Given the description of an element on the screen output the (x, y) to click on. 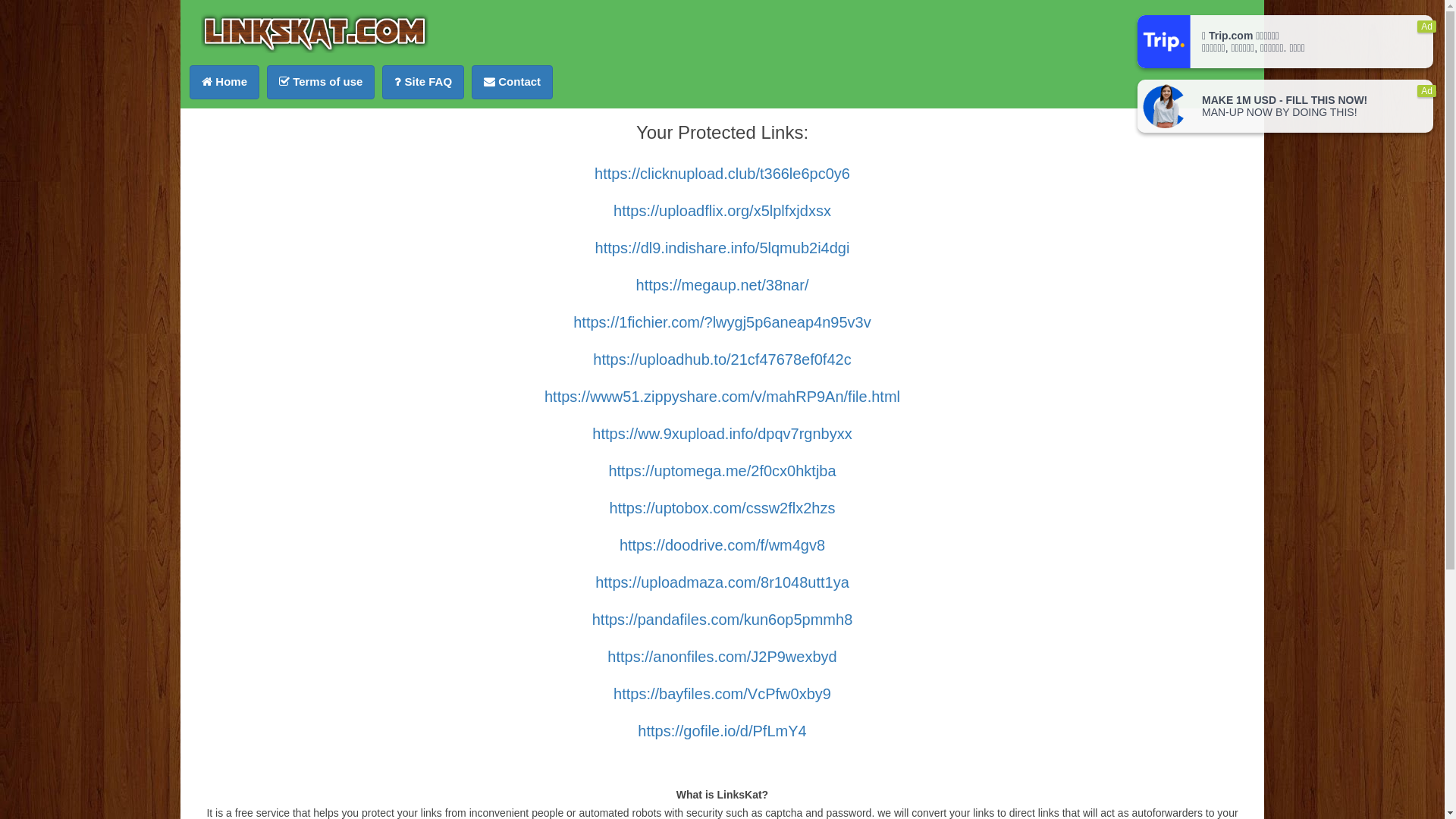
https://1fichier.com/?lwygj5p6aneap4n95v3v Element type: text (721, 321)
https://uploadflix.org/x5lplfxjdxsx Element type: text (722, 210)
Terms of use Element type: text (320, 82)
https://ww.9xupload.info/dpqv7rgnbyxx Element type: text (721, 433)
https://gofile.io/d/PfLmY4 Element type: text (721, 730)
https://uptobox.com/cssw2flx2hzs Element type: text (722, 507)
Contact Element type: text (511, 82)
https://www51.zippyshare.com/v/mahRP9An/file.html Element type: text (722, 396)
https://megaup.net/38nar/ Element type: text (722, 284)
https://uploadhub.to/21cf47678ef0f42c Element type: text (721, 359)
https://pandafiles.com/kun6op5pmmh8 Element type: text (722, 619)
https://clicknupload.club/t366le6pc0y6 Element type: text (722, 173)
https://anonfiles.com/J2P9wexbyd Element type: text (721, 656)
https://doodrive.com/f/wm4gv8 Element type: text (722, 544)
Home Element type: text (224, 82)
https://uptomega.me/2f0cx0hktjba Element type: text (721, 470)
Site FAQ Element type: text (423, 82)
https://uploadmaza.com/8r1048utt1ya Element type: text (722, 582)
https://bayfiles.com/VcPfw0xby9 Element type: text (722, 693)
https://dl9.indishare.info/5lqmub2i4dgi Element type: text (722, 247)
